Given the description of an element on the screen output the (x, y) to click on. 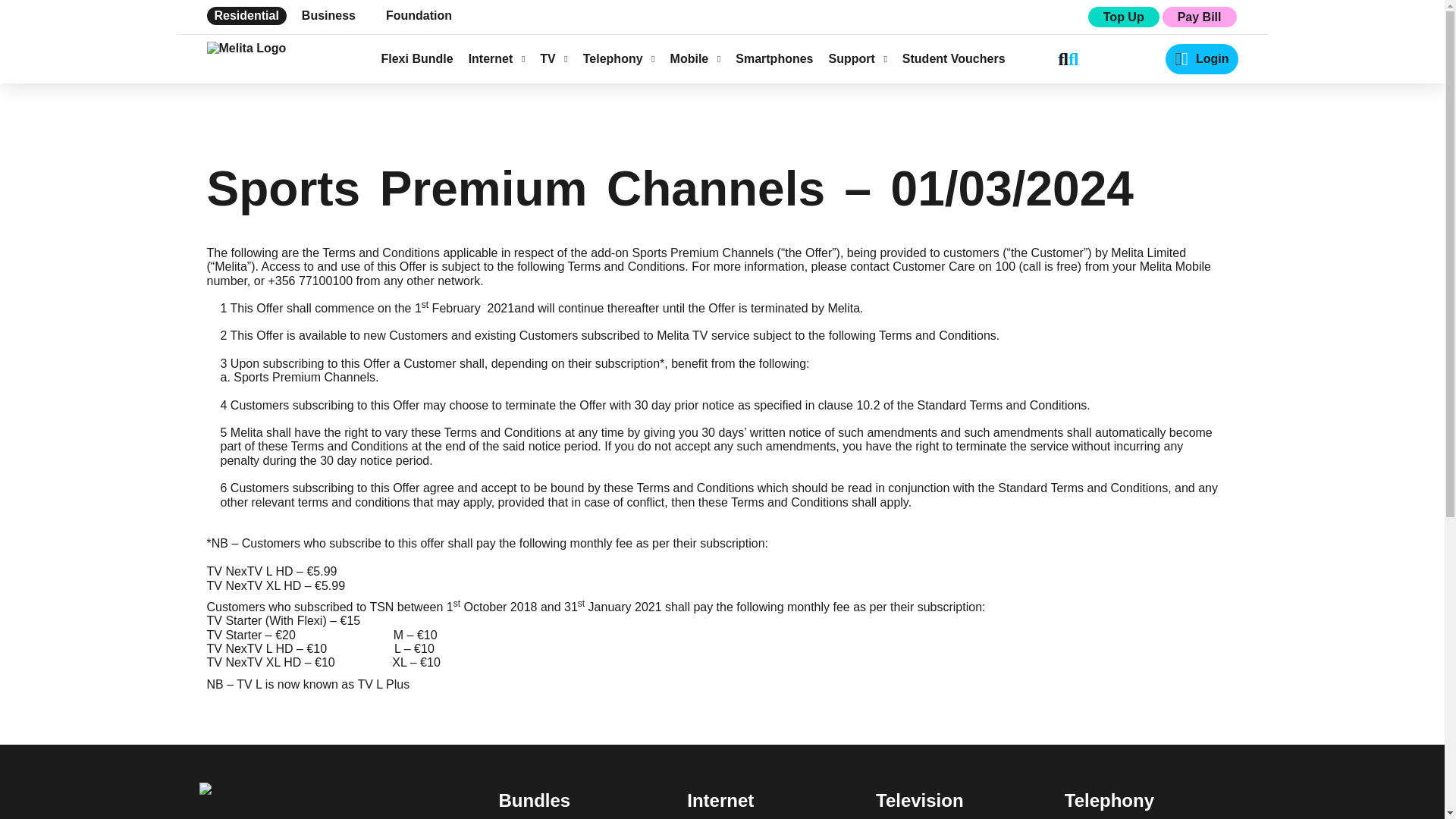
Support (857, 59)
Business (328, 15)
Telephony (619, 59)
Mobile (694, 59)
Internet (496, 59)
Residential (246, 15)
Smartphones (773, 59)
Foundation (418, 15)
Pay Bill (1198, 16)
TV (553, 59)
